Given the description of an element on the screen output the (x, y) to click on. 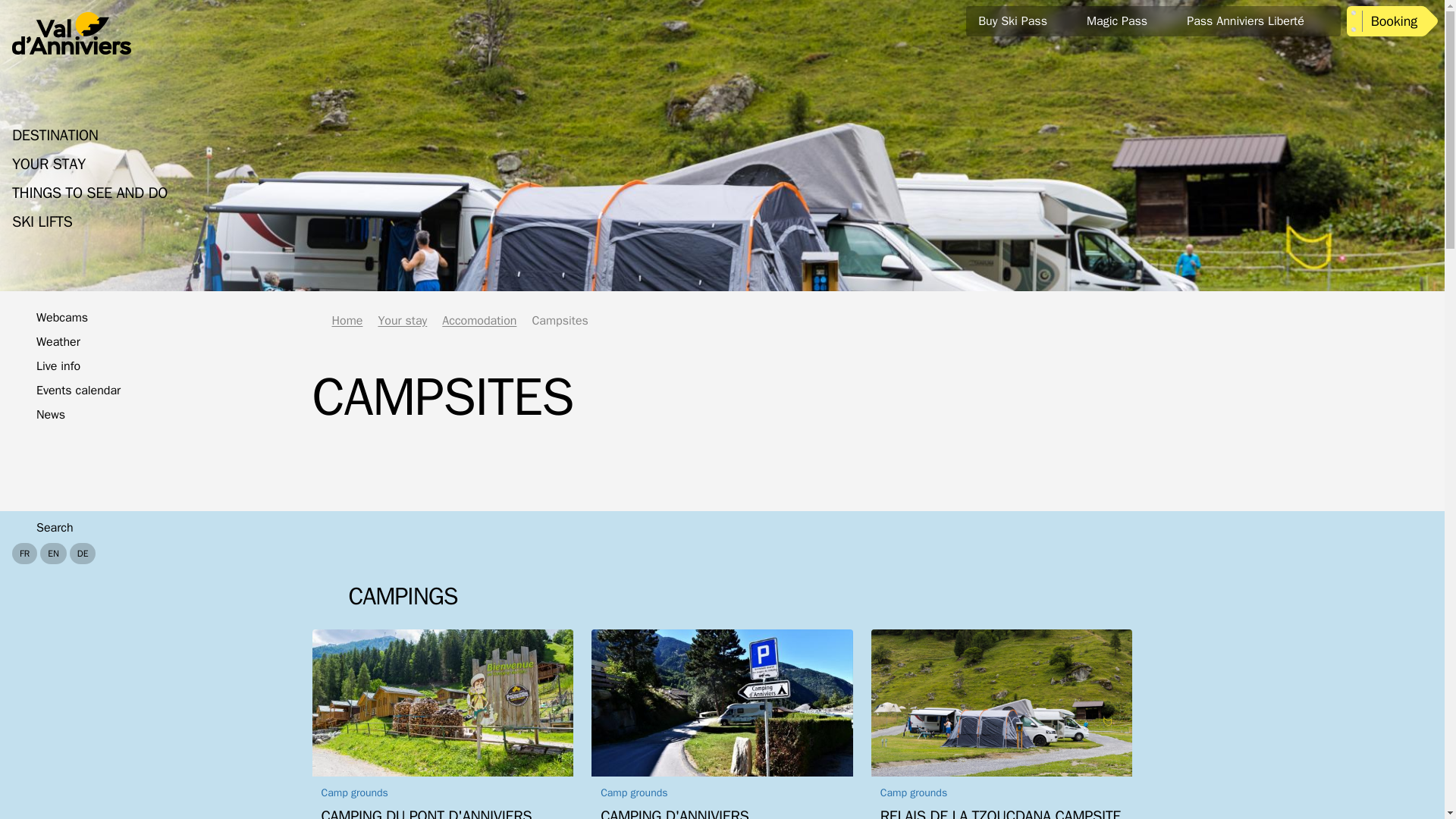
Booking (1392, 20)
News (38, 415)
Events calendar (65, 391)
THINGS TO SEE AND DO (89, 193)
Weather (45, 342)
Booking (1392, 20)
Webcams (49, 318)
Search (53, 527)
EN (53, 553)
Buy Ski Pass (1024, 21)
FR (24, 553)
YOUR STAY (48, 164)
DE (82, 553)
Live info (45, 366)
SKI LIFTS (41, 221)
